Given the description of an element on the screen output the (x, y) to click on. 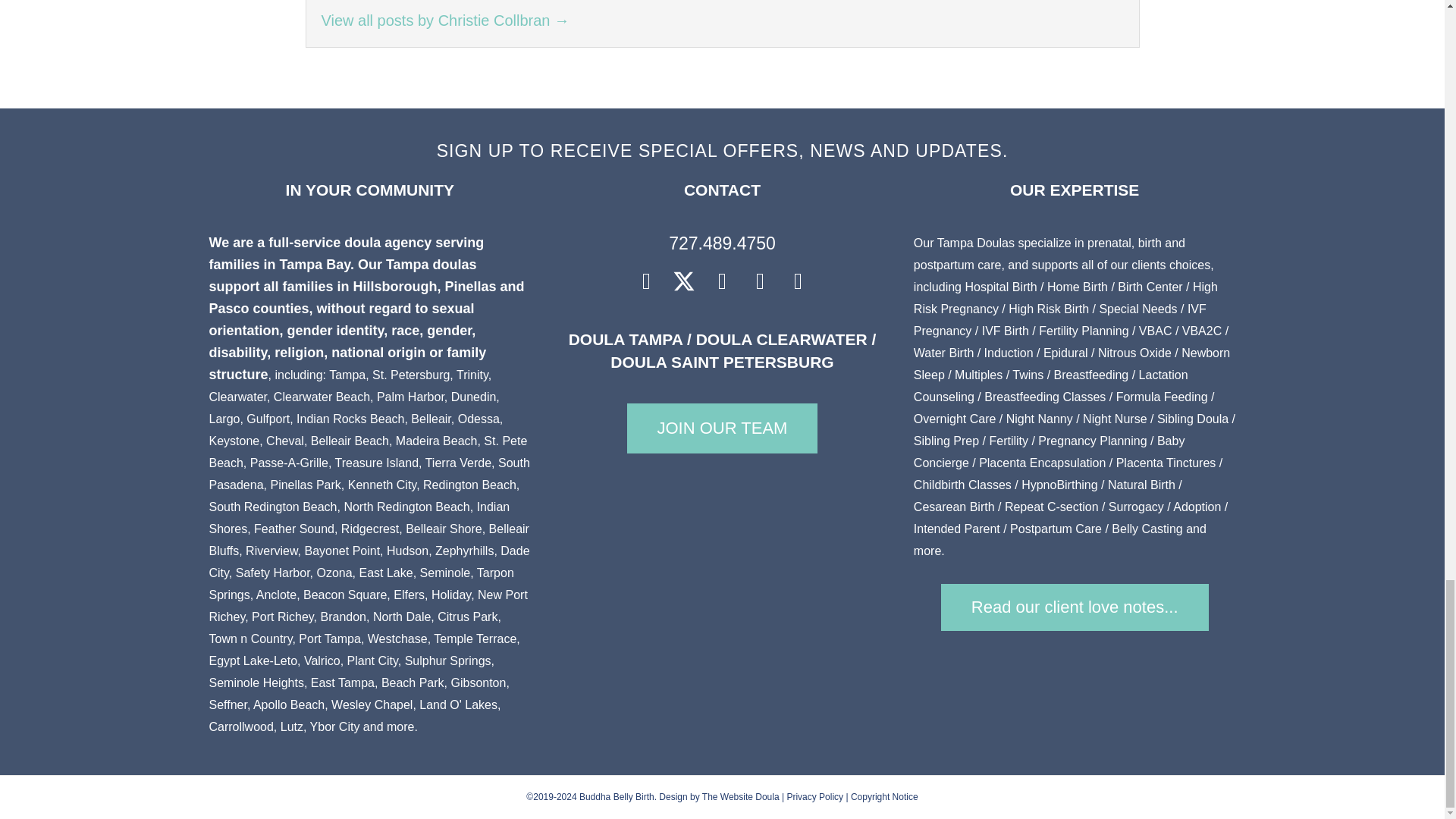
Instagram (721, 280)
Facebook (645, 280)
Pinterest (759, 280)
